Given the description of an element on the screen output the (x, y) to click on. 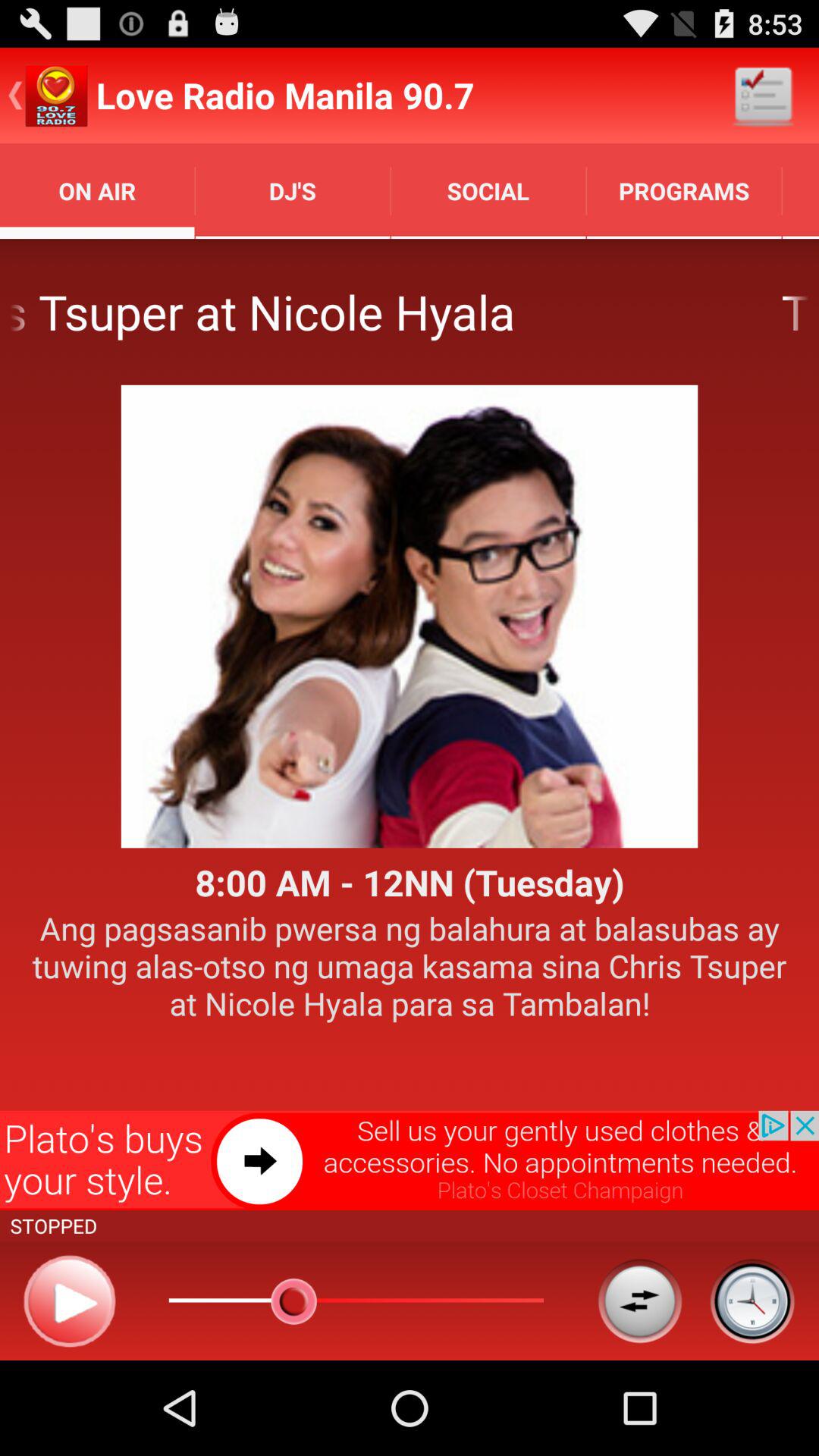
fast forward/rewind (639, 1300)
